Given the description of an element on the screen output the (x, y) to click on. 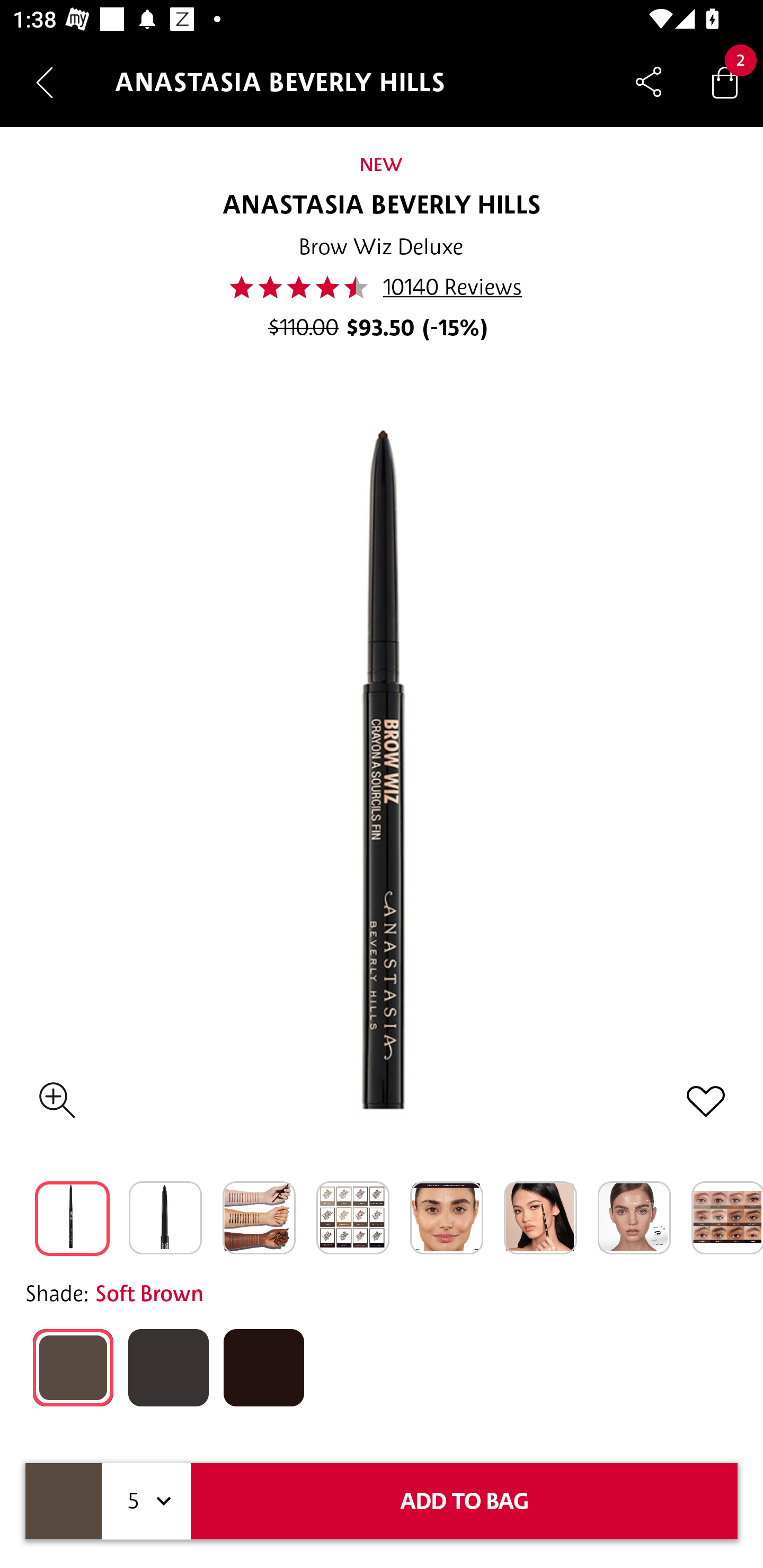
Navigate up (44, 82)
Share (648, 81)
Bag (724, 81)
ANASTASIA BEVERLY HILLS (381, 205)
45.0 10140 Reviews (380, 286)
5 (145, 1500)
ADD TO BAG (463, 1500)
